Given the description of an element on the screen output the (x, y) to click on. 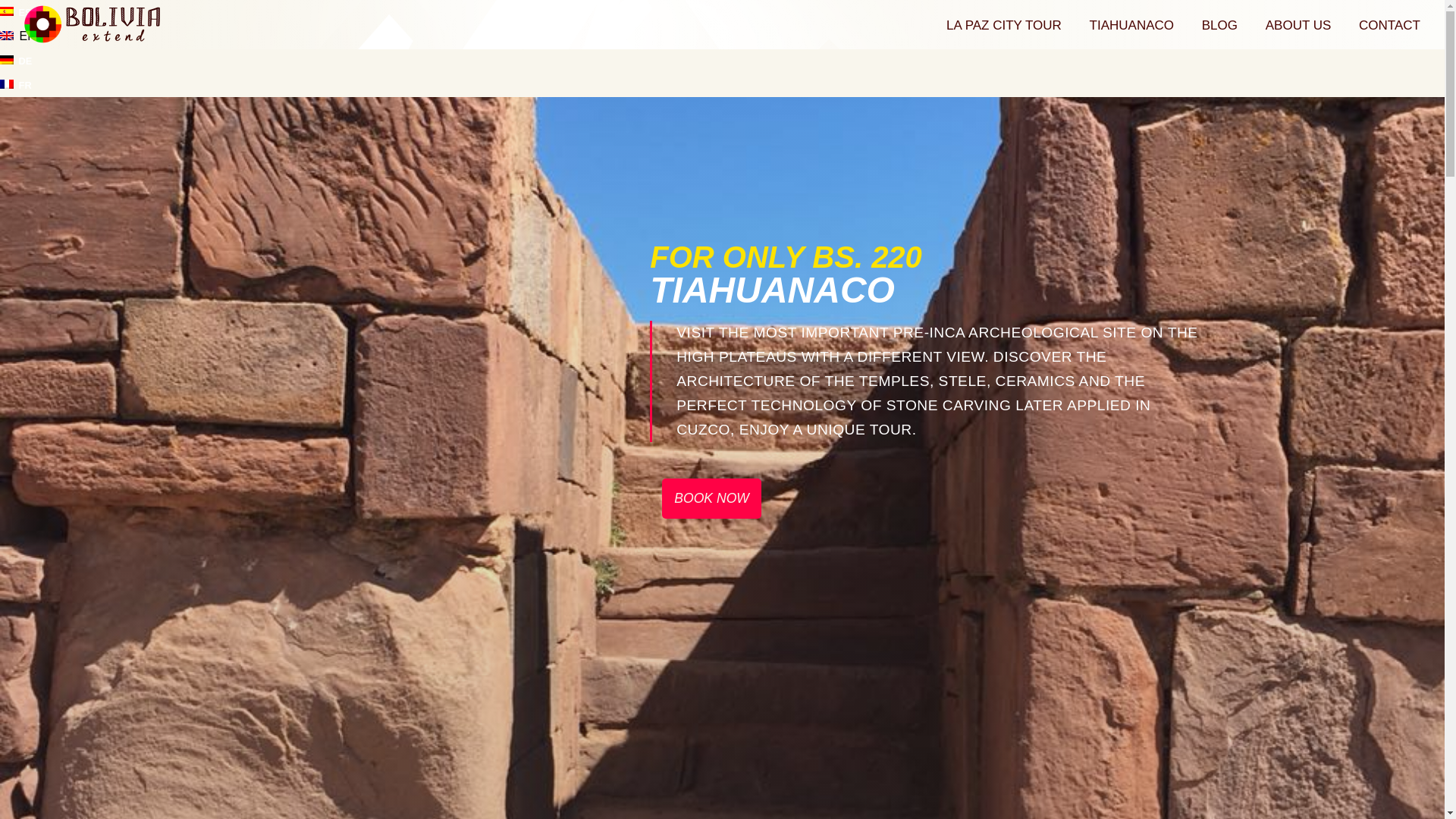
DE (16, 60)
CONTACT (92, 24)
FR (1389, 32)
BLOG (16, 84)
BOOK NOW (1219, 32)
TIAHUANACO (711, 497)
ES (1131, 32)
ABOUT US (16, 12)
LA PAZ CITY TOUR (1298, 32)
